Given the description of an element on the screen output the (x, y) to click on. 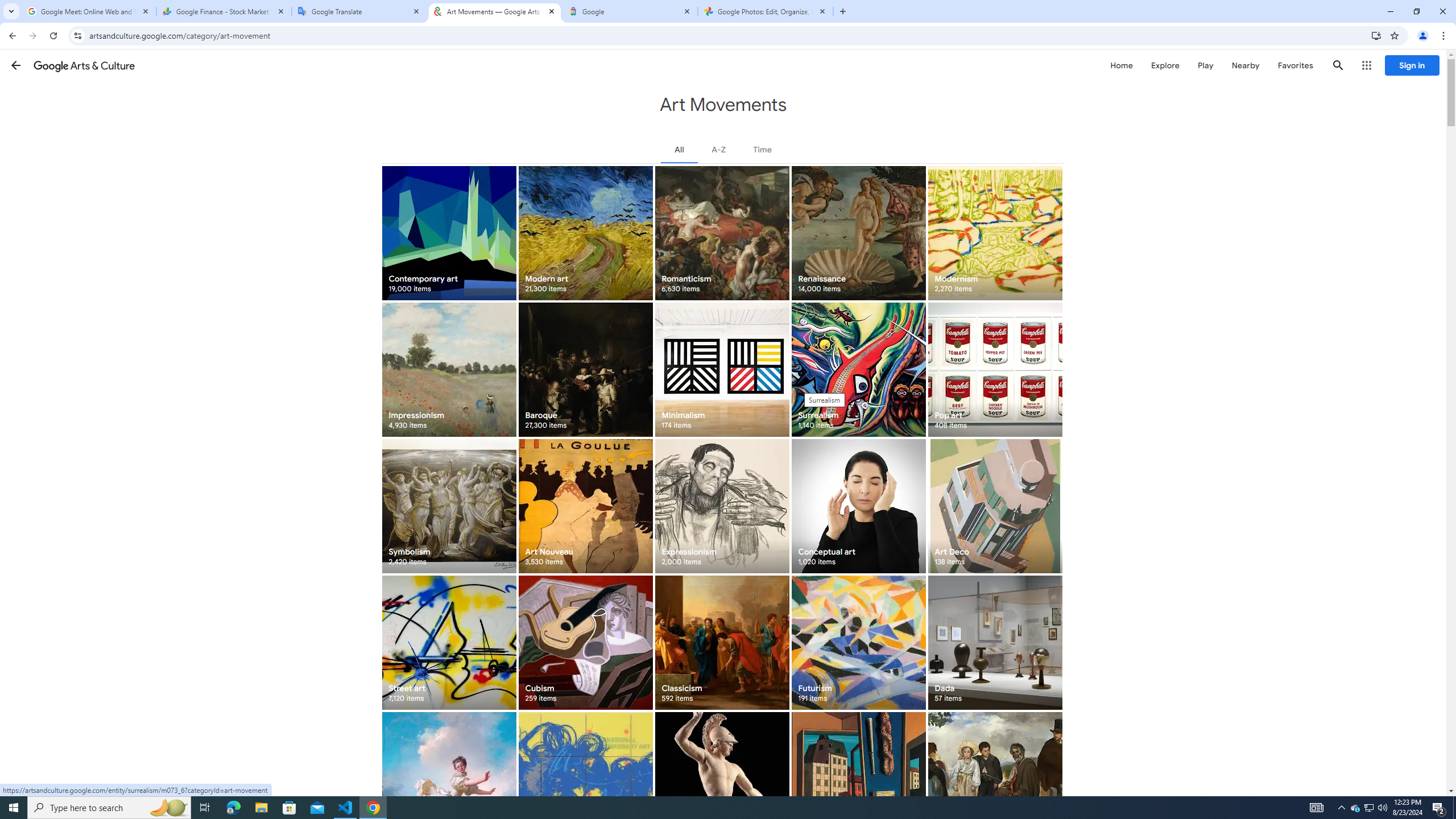
All (679, 148)
Explore (1164, 65)
Contemporary art 19,000 items (448, 233)
Cubism 259 items (585, 642)
Nearby (1244, 65)
Classicism 592 items (722, 642)
Time (761, 148)
Baroque 27,300 items (585, 369)
